Given the description of an element on the screen output the (x, y) to click on. 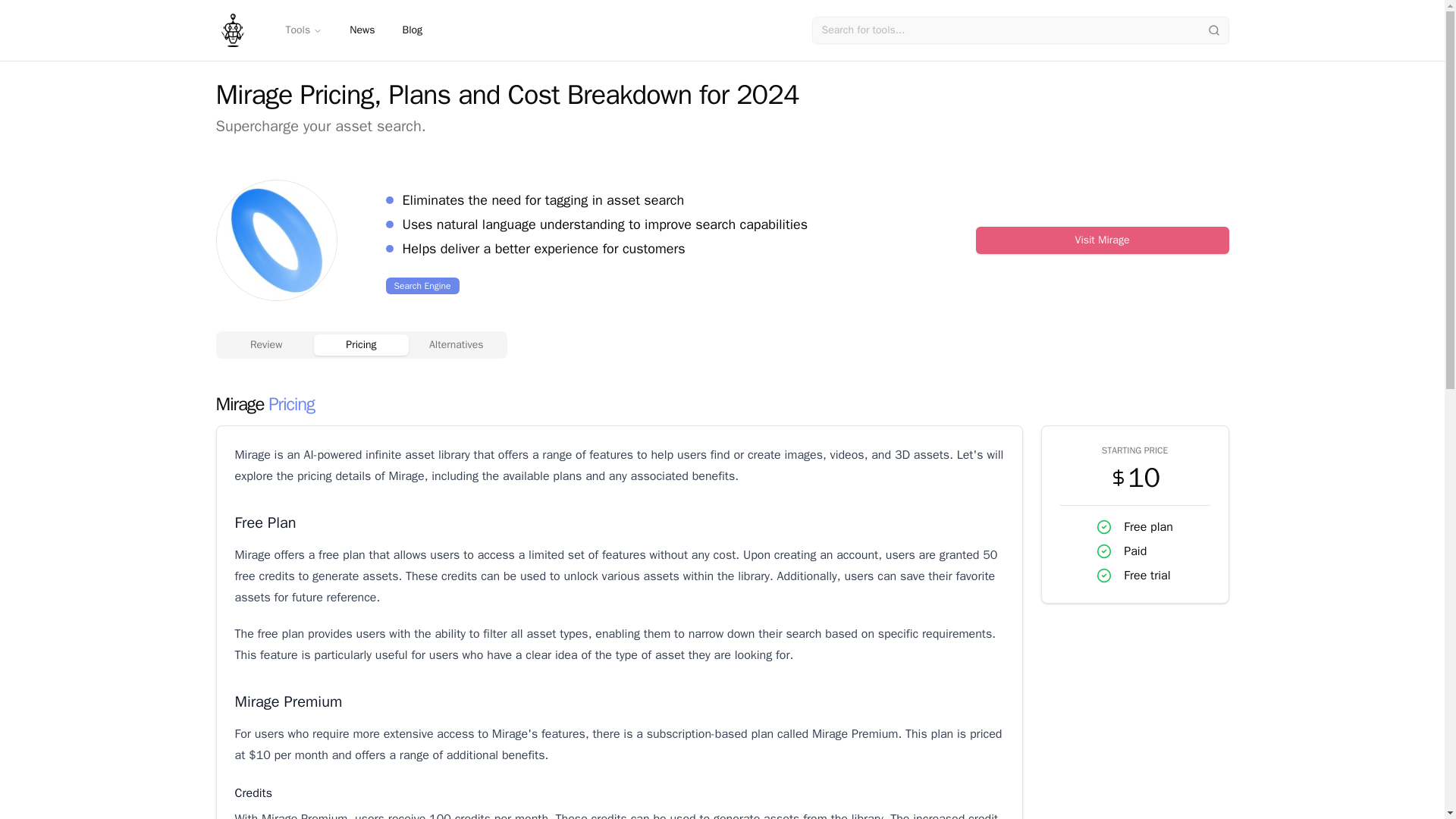
Visit Mirage (1101, 239)
Review (265, 344)
Pricing (361, 344)
Search Engine (421, 285)
Blog (411, 30)
Alternatives (456, 344)
News (362, 30)
Tools (303, 30)
